Given the description of an element on the screen output the (x, y) to click on. 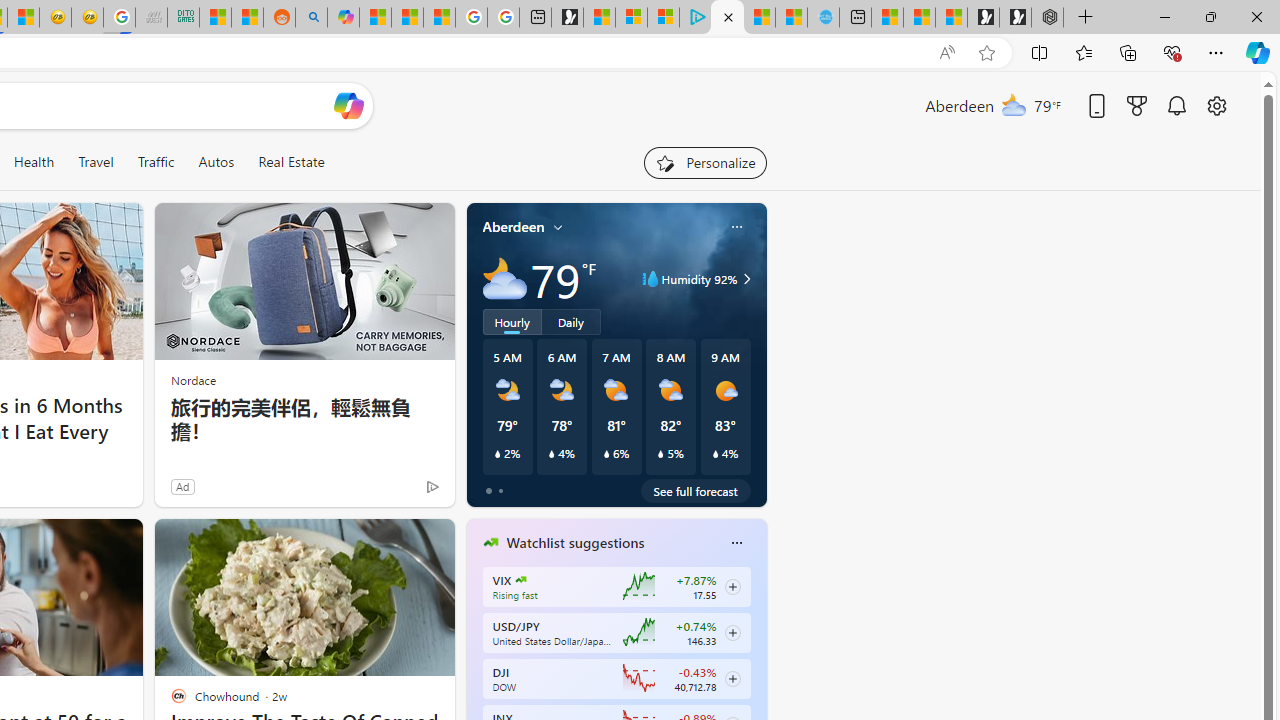
Class: icon-img (736, 542)
previous (476, 670)
